Given the description of an element on the screen output the (x, y) to click on. 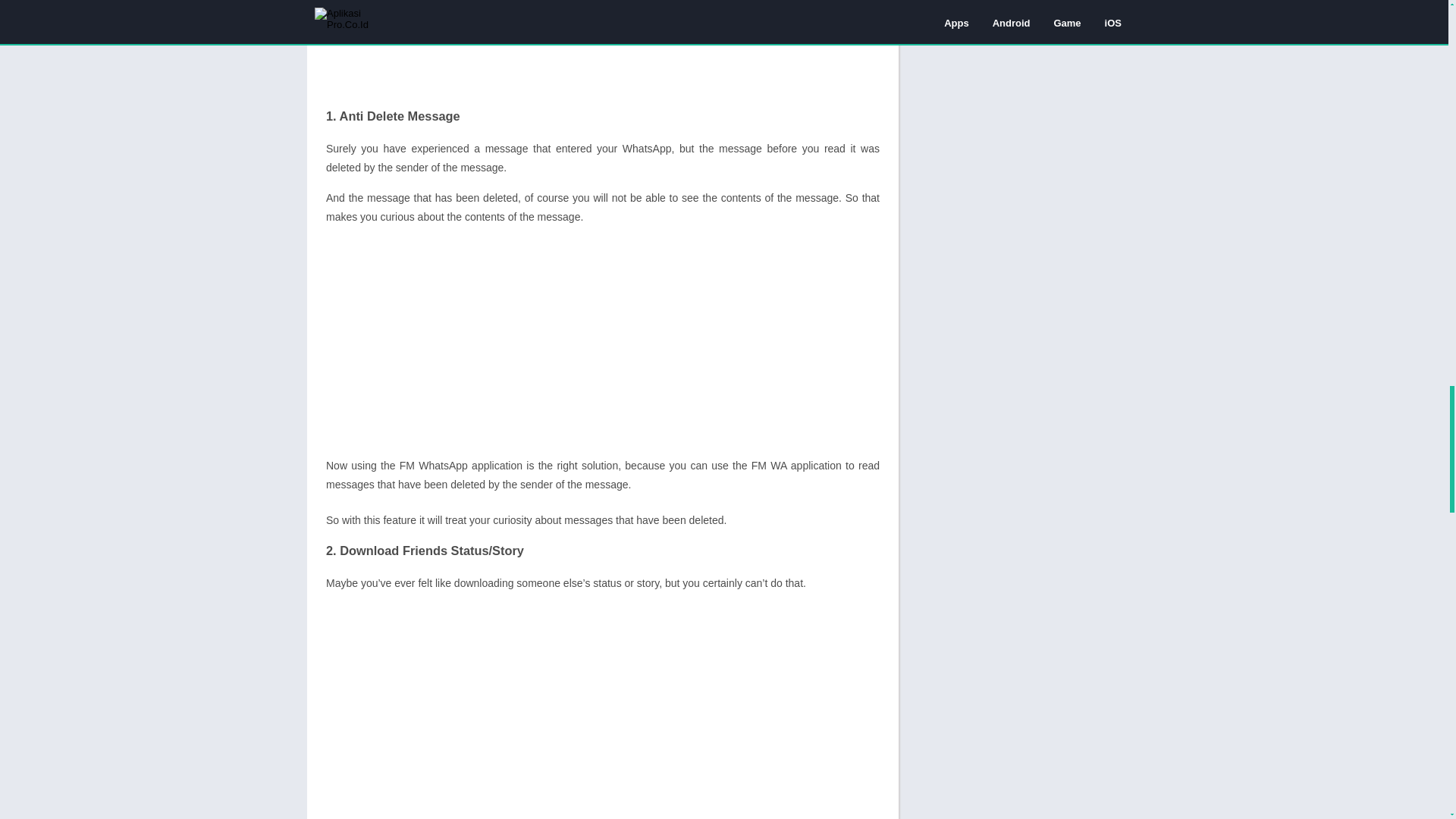
Advertisement (602, 344)
Advertisement (602, 710)
Advertisement (602, 50)
